Given the description of an element on the screen output the (x, y) to click on. 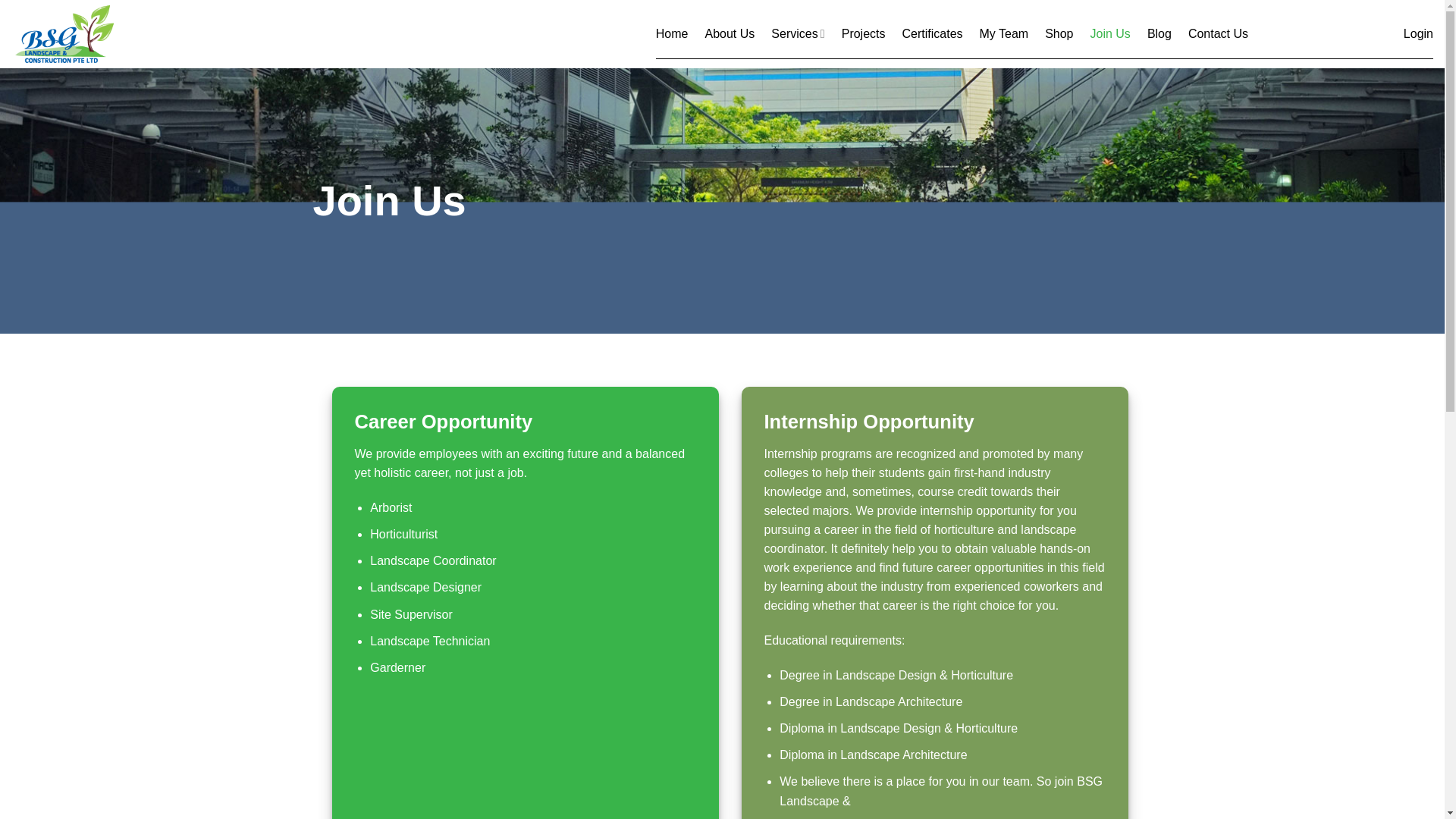
Services (797, 33)
Cart (1325, 33)
Home (672, 32)
My Team (1004, 32)
Login (1417, 32)
Join Us (1110, 32)
Contact Us (1217, 32)
Shop (1059, 32)
About Us (729, 32)
Certificates (932, 32)
Projects (863, 32)
